Given the description of an element on the screen output the (x, y) to click on. 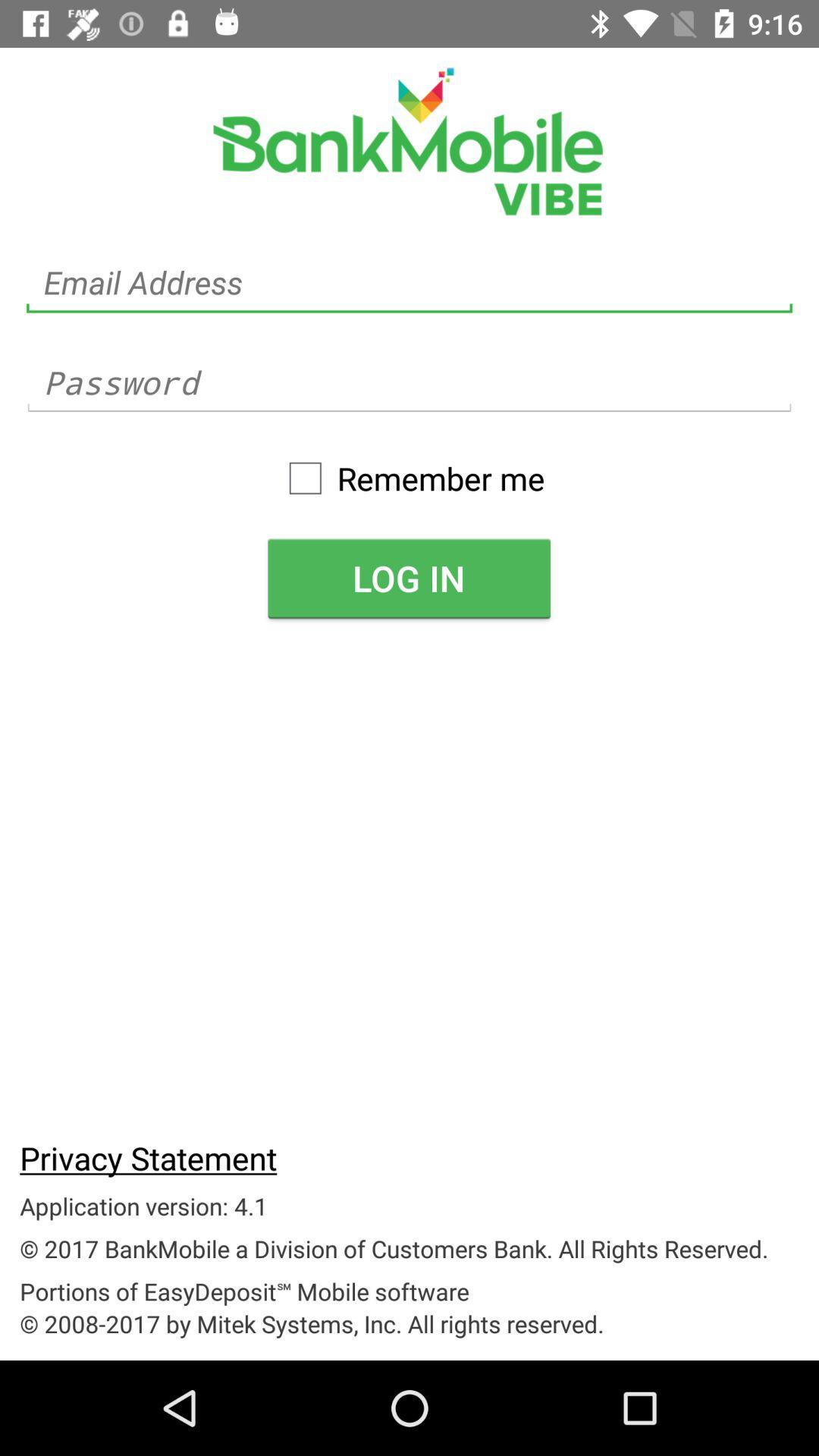
input password (409, 382)
